Given the description of an element on the screen output the (x, y) to click on. 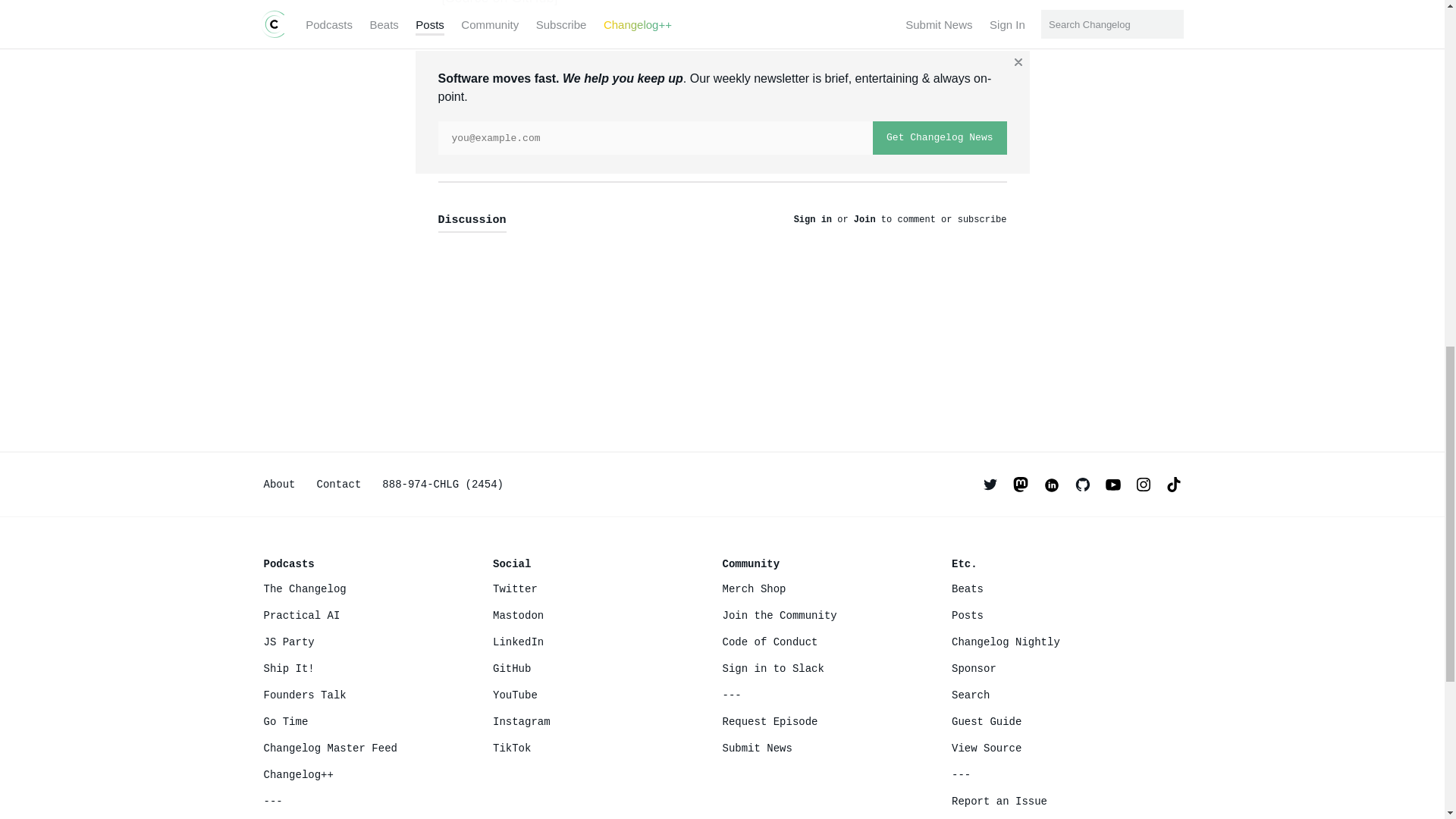
Get Changelog News (939, 137)
Join (864, 219)
Source on GitHub (499, 3)
Contact (339, 484)
Get Changelog News (939, 137)
About (279, 484)
Sign in (812, 219)
